Given the description of an element on the screen output the (x, y) to click on. 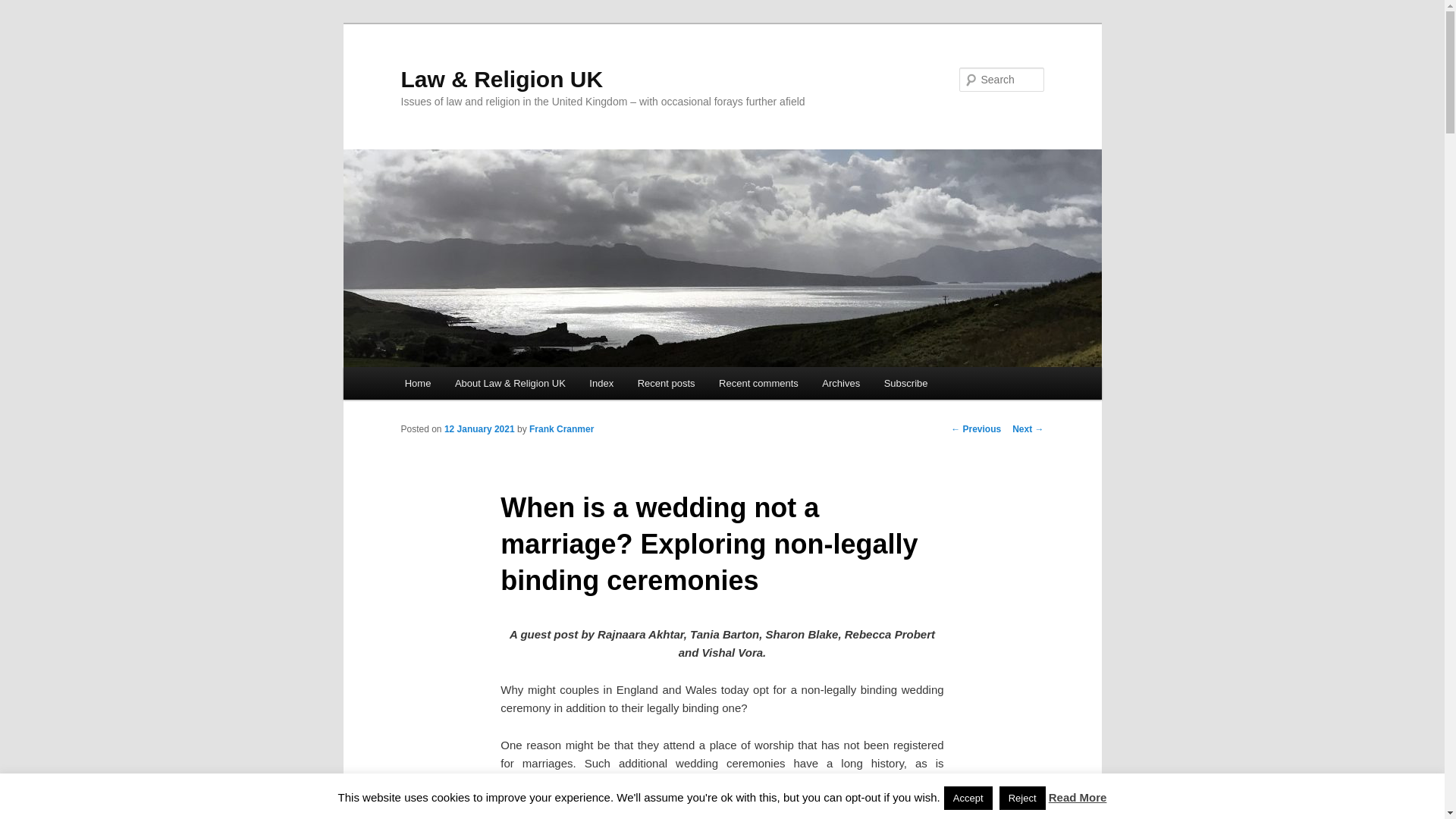
Home (417, 382)
Frank Cranmer (561, 429)
Search (24, 8)
Archives (841, 382)
Subscribe (905, 382)
Index (602, 382)
Recent posts (666, 382)
Recent comments (757, 382)
12 January 2021 (479, 429)
